Given the description of an element on the screen output the (x, y) to click on. 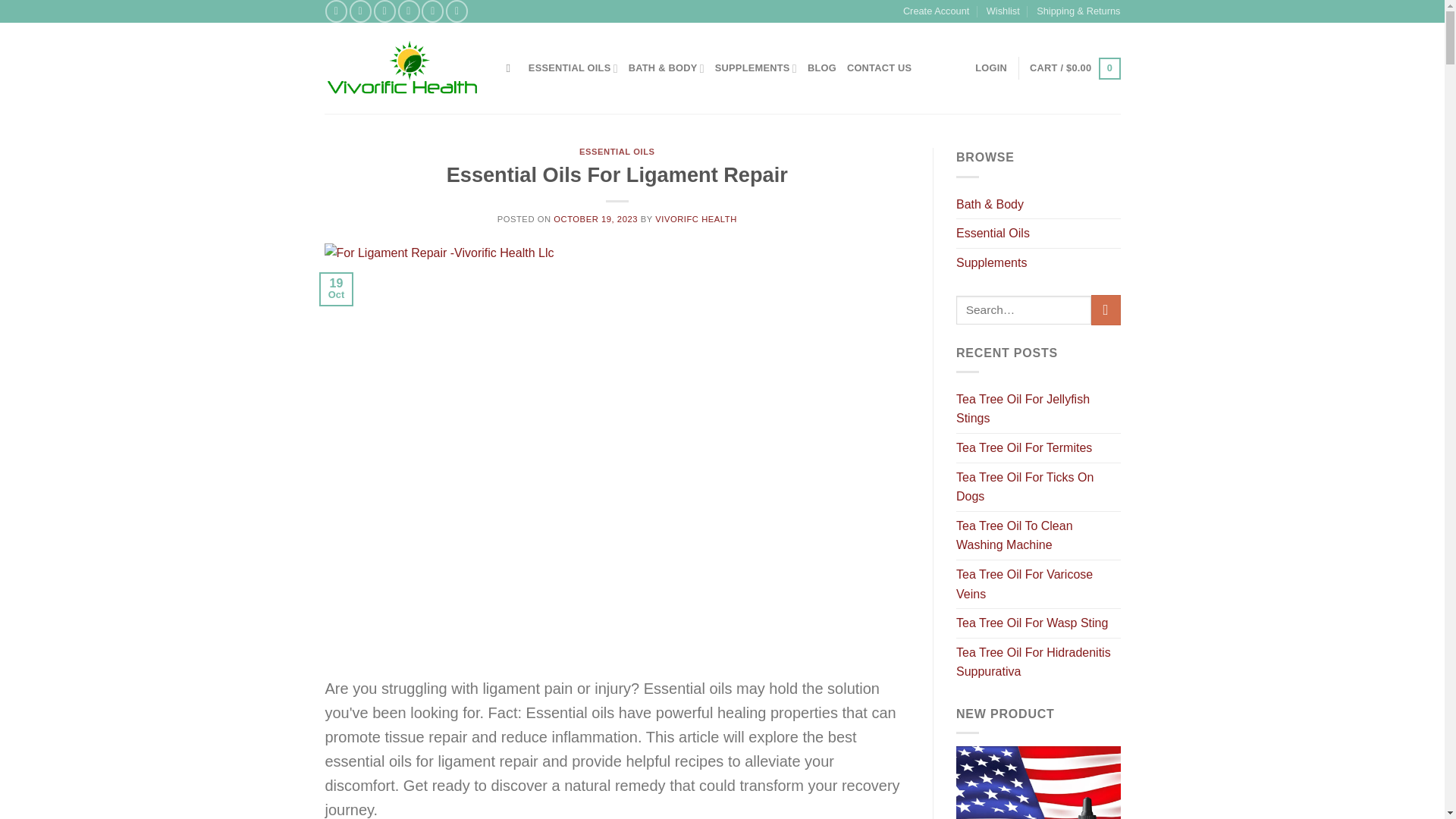
Wishlist (1003, 11)
ESSENTIAL OILS (572, 68)
Follow on Pinterest (456, 11)
Follow on Instagram (360, 11)
Follow on Twitter (385, 11)
Vivorific Health - So Natural, So Pure, So Good (403, 68)
Follow on Facebook (335, 11)
Call us (433, 11)
Send us an email (408, 11)
